Given the description of an element on the screen output the (x, y) to click on. 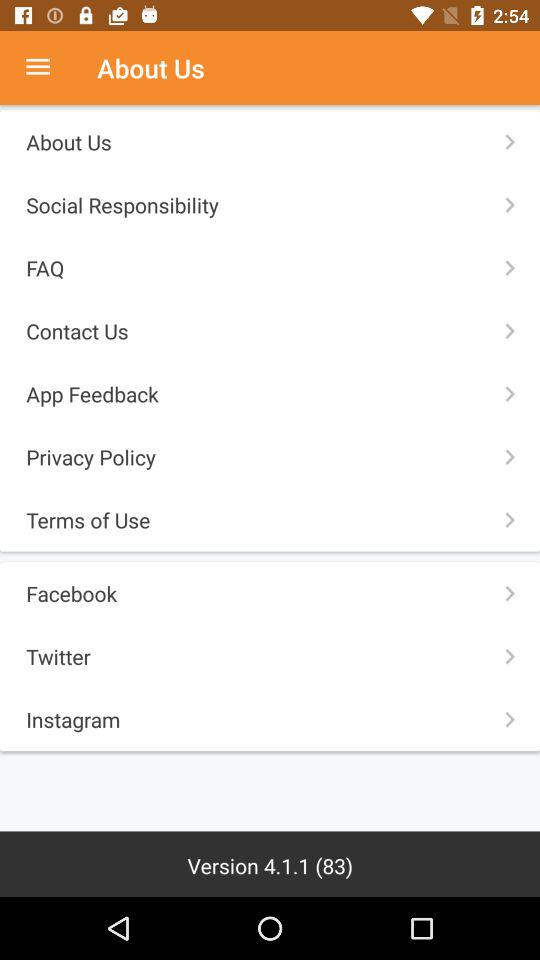
open the icon to the left of about us (48, 67)
